Given the description of an element on the screen output the (x, y) to click on. 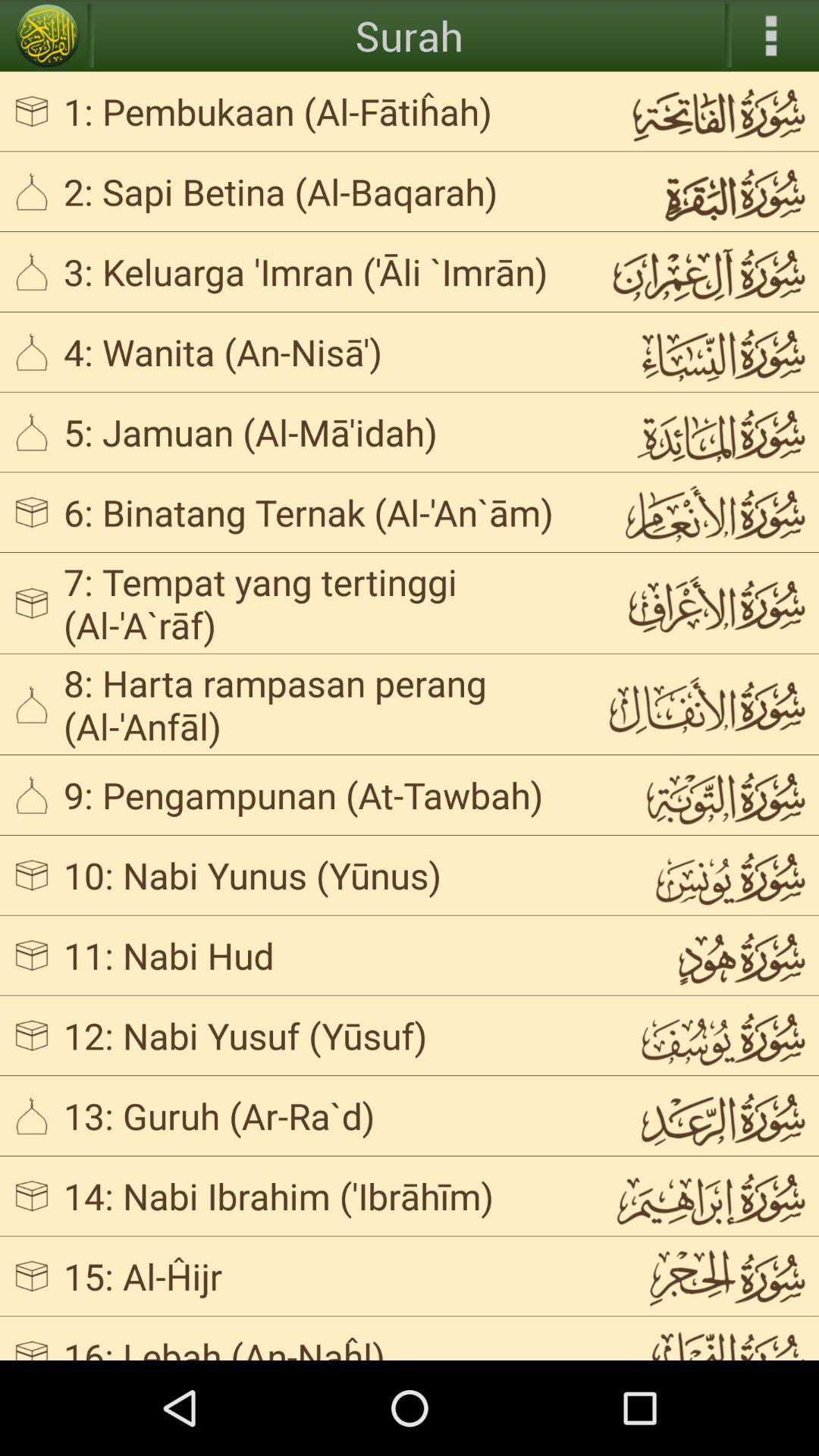
turn off the app below 7 tempat yang app (322, 704)
